Given the description of an element on the screen output the (x, y) to click on. 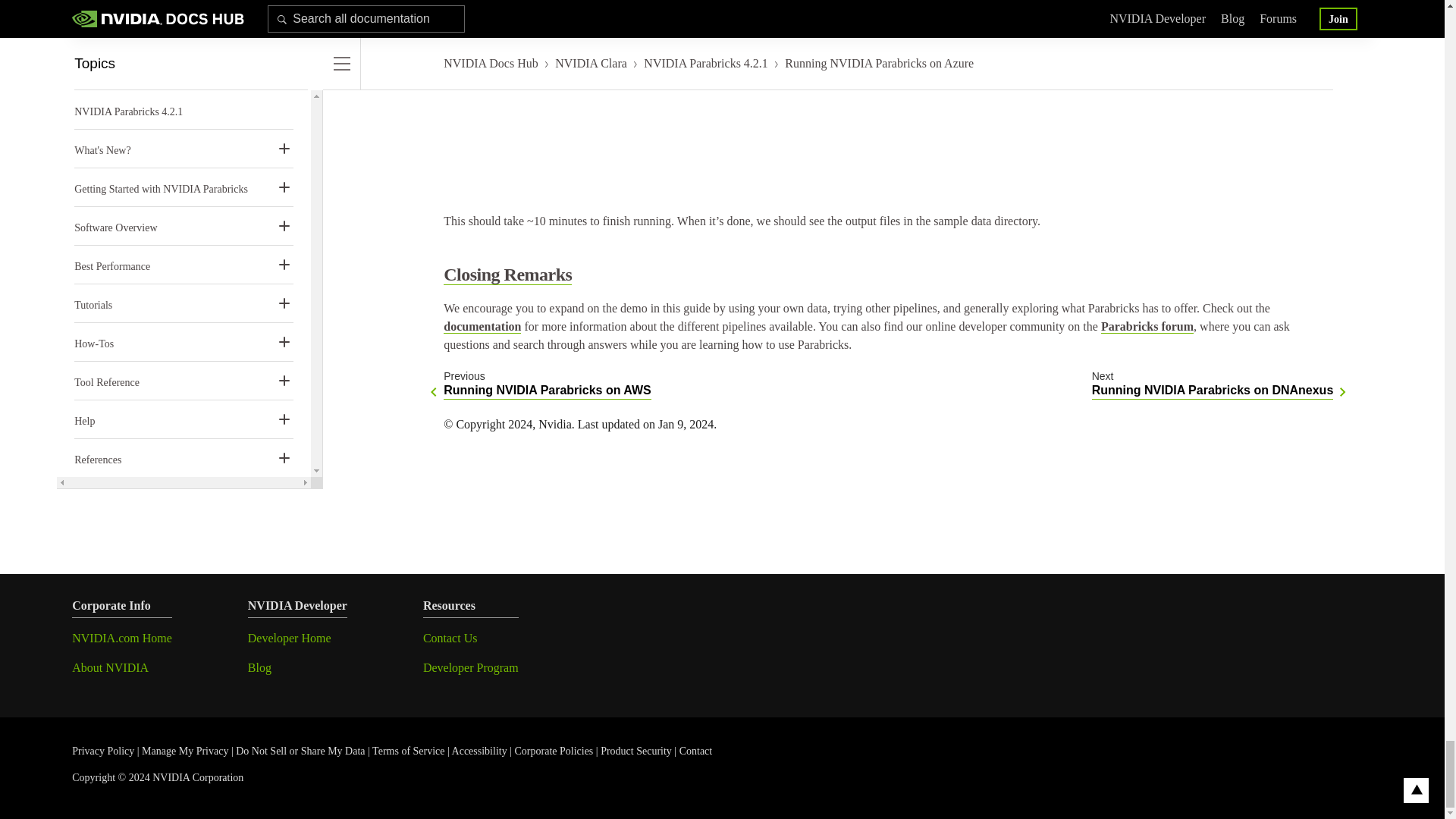
Parabricks forum (1146, 326)
documentation (1212, 384)
Closing Remarks (482, 326)
